Given the description of an element on the screen output the (x, y) to click on. 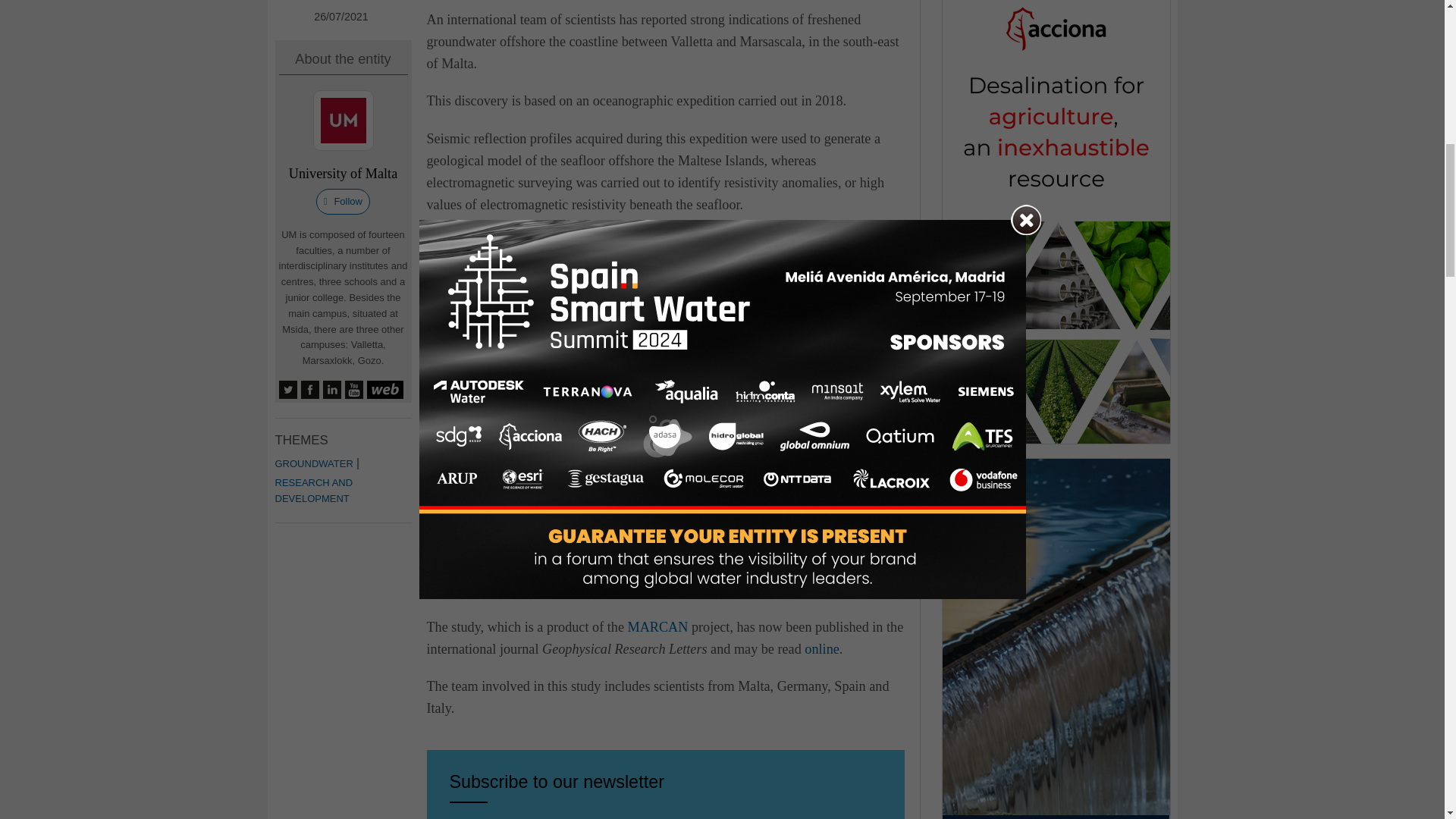
View University of Malta's profile on Twitter (288, 389)
View University of Malta's profile on Facebook (309, 389)
View University of Malta's profile on LinkedIn (331, 389)
View University of Malta's channel on Youtube (353, 389)
View University of Malta's website (384, 389)
